Given the description of an element on the screen output the (x, y) to click on. 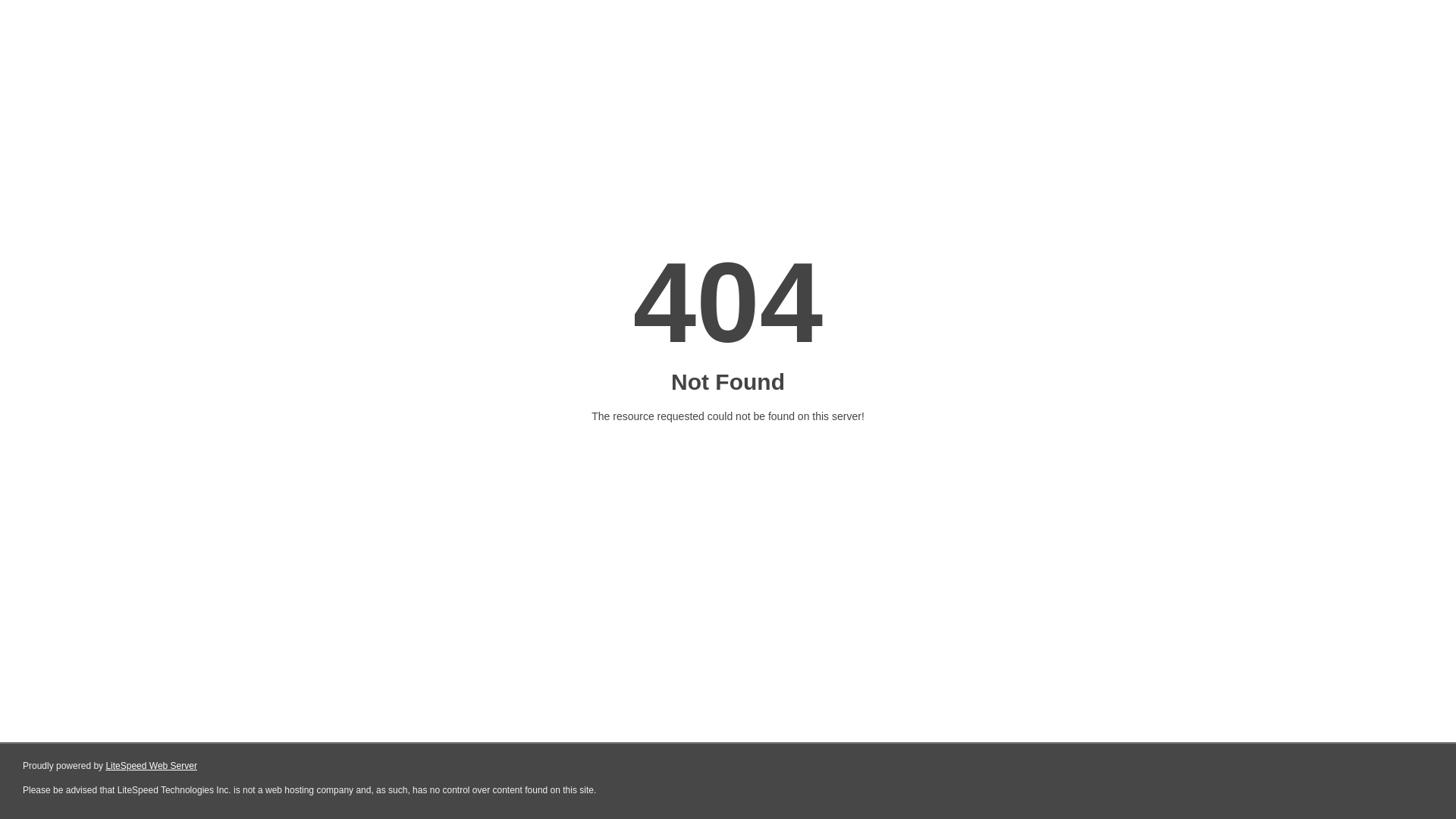
LiteSpeed Web Server Element type: text (151, 765)
